Given the description of an element on the screen output the (x, y) to click on. 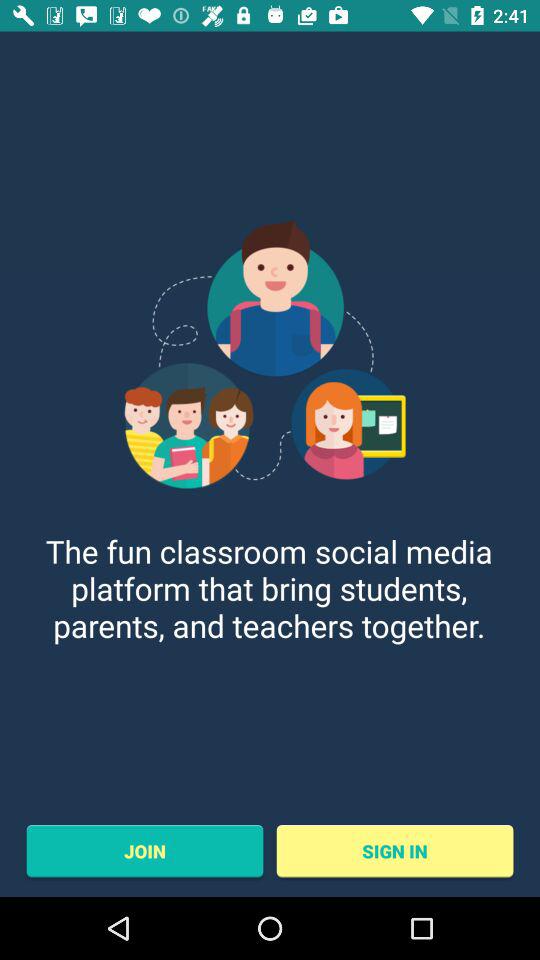
turn off the join at the bottom left corner (144, 851)
